Given the description of an element on the screen output the (x, y) to click on. 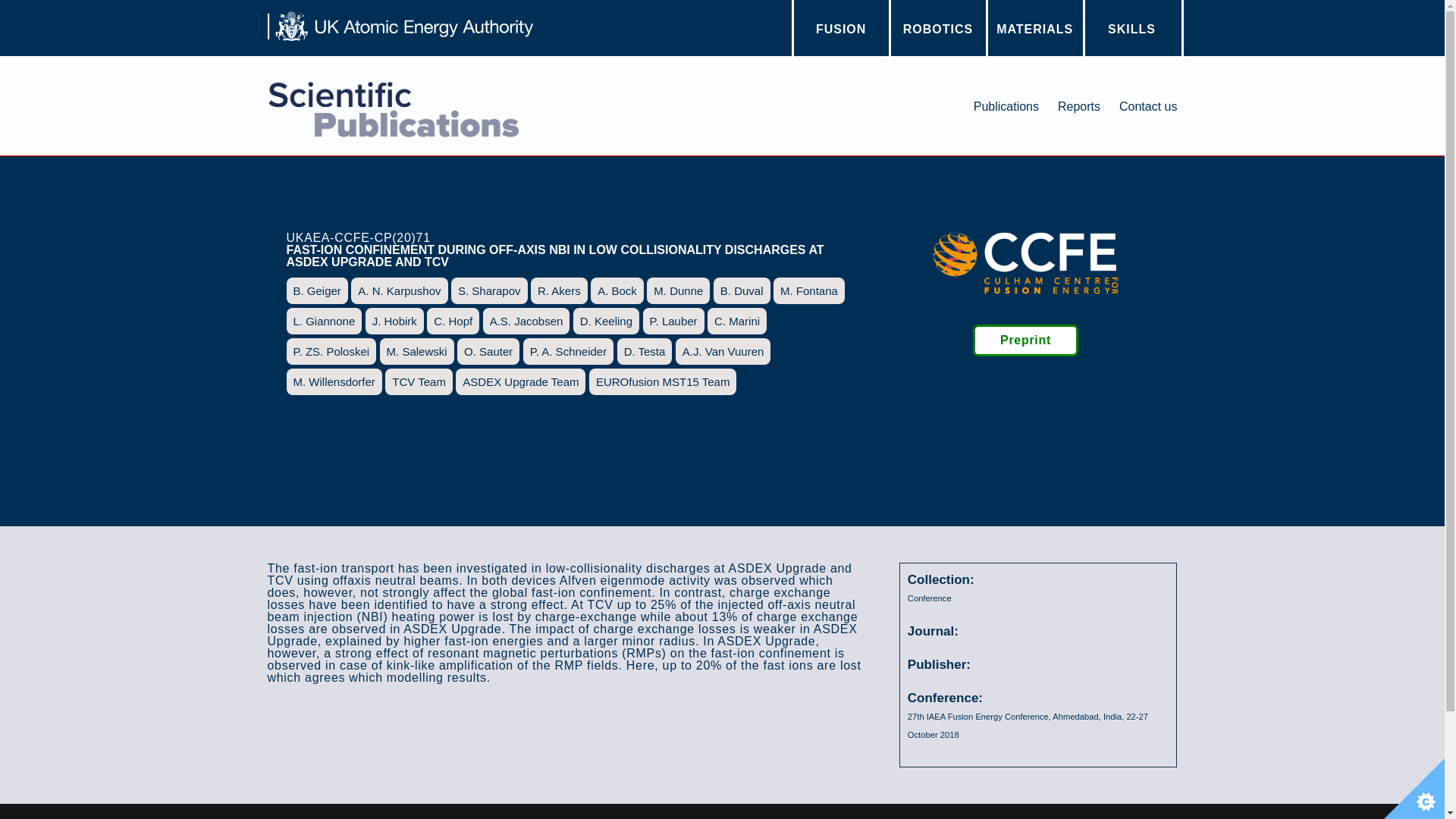
M. Dunne (678, 290)
TCV Team (418, 381)
RACE (937, 36)
R. Akers (559, 290)
P. Lauber (673, 320)
OAS (1131, 29)
C. Marini (737, 320)
MRF (1034, 36)
ASDEX Upgrade Team (520, 381)
S. Sharapov (489, 290)
L. Giannone (324, 320)
A. N. Karpushov (398, 290)
A.S. Jacobsen (526, 320)
D. Keeling (606, 320)
B. Geiger (316, 290)
